Given the description of an element on the screen output the (x, y) to click on. 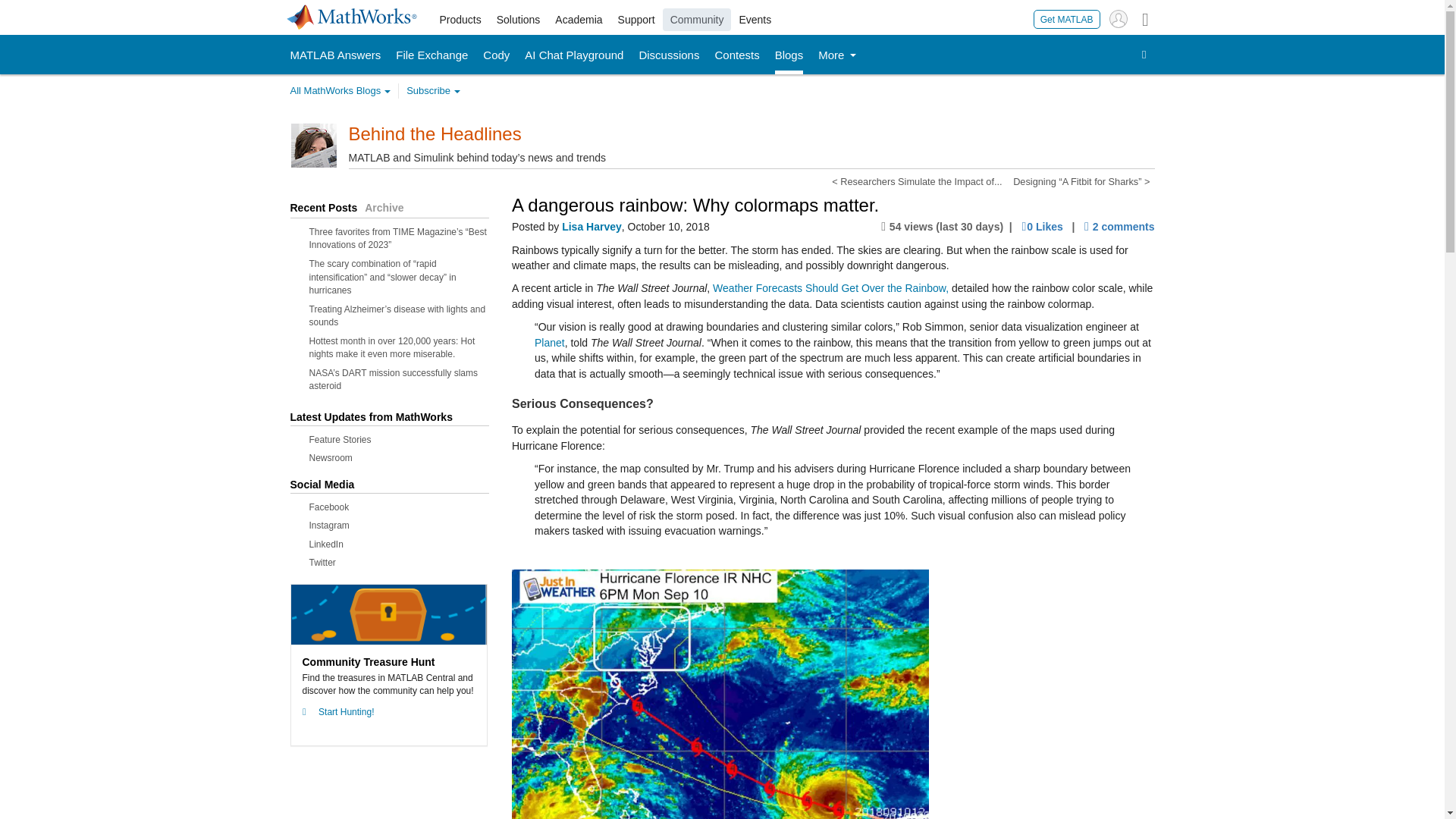
Products (460, 19)
Behind the Headlines (435, 133)
Solutions (518, 19)
Academia (578, 19)
Get MATLAB (1066, 18)
Matrix Menu (1144, 18)
Community (697, 19)
Support (636, 19)
Events (754, 19)
